Given the description of an element on the screen output the (x, y) to click on. 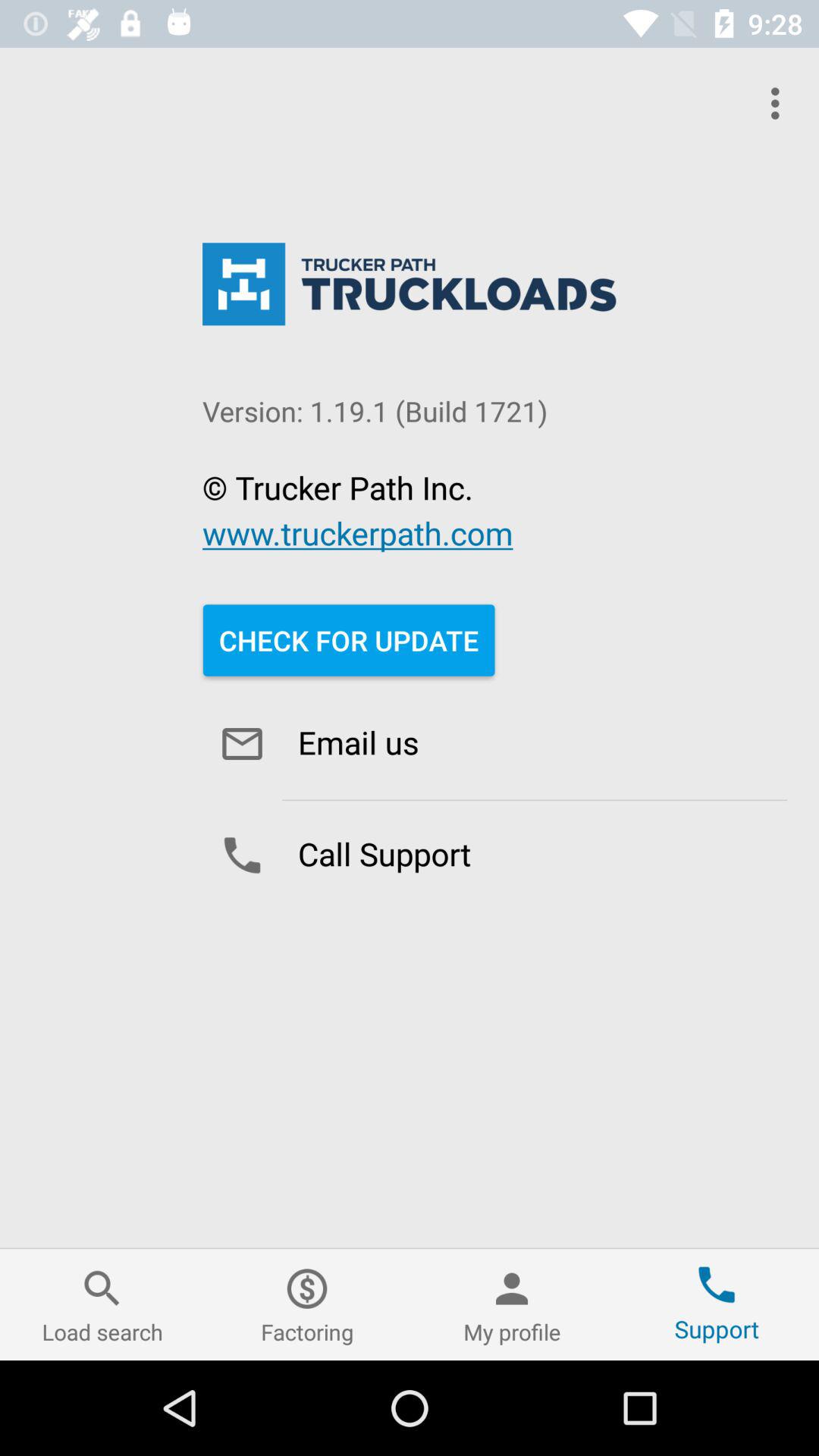
select factoring (306, 1304)
go to fourth line (357, 532)
click on fourth option at bottom right (716, 1304)
select option below check for update button (494, 743)
click on the android menu icon in top (779, 103)
click on blue colour text which says check for update (348, 640)
